Given the description of an element on the screen output the (x, y) to click on. 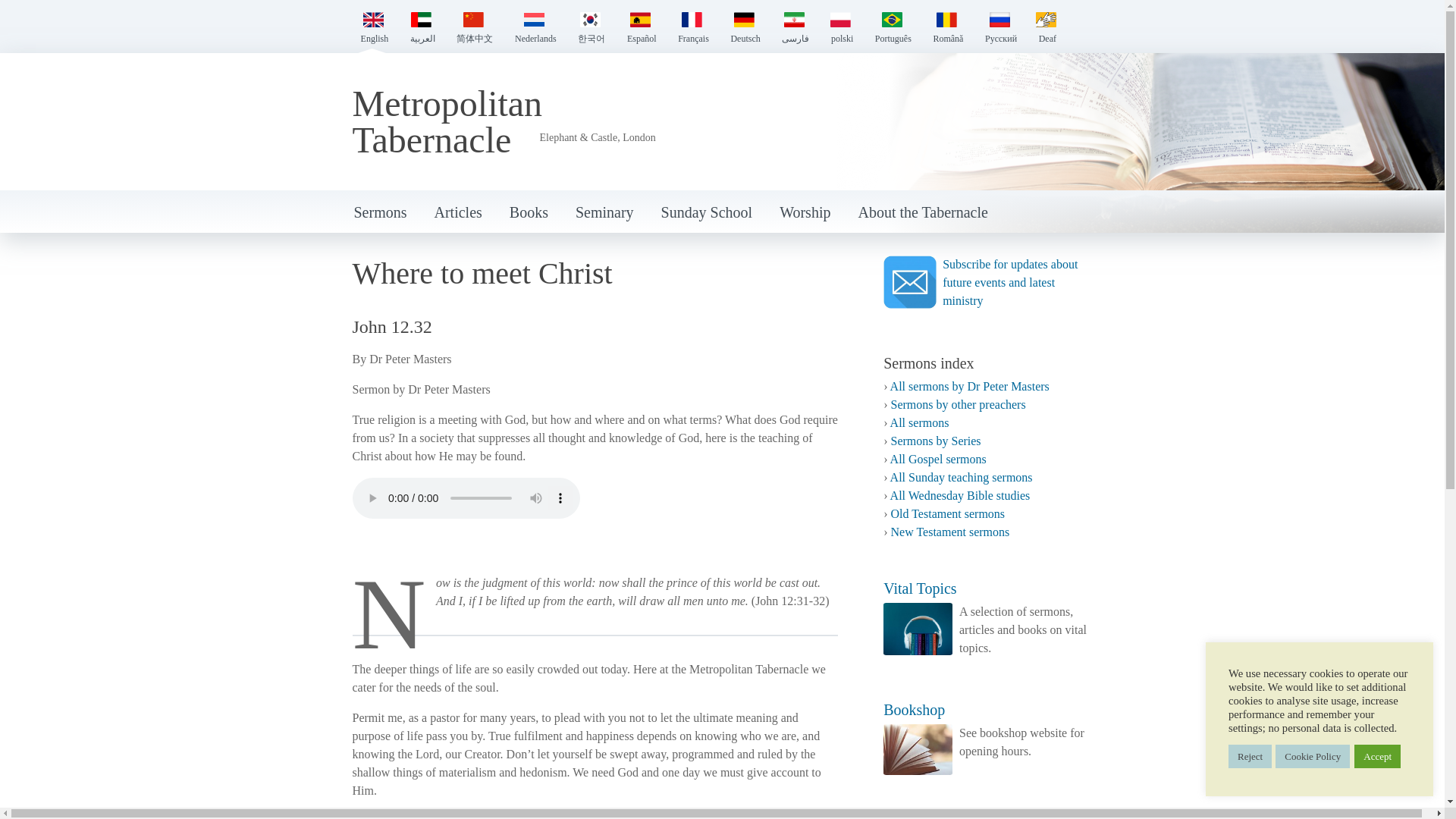
Deutsch (734, 28)
English (373, 28)
Sermons by Series (934, 440)
Books (529, 213)
Sunday School (707, 213)
Nederlands (524, 28)
polski (831, 28)
All sermons (919, 422)
Sermons (379, 213)
Nederlands (524, 28)
Worship (804, 213)
Deaf (1036, 28)
Seminary (604, 213)
Sermons by other preachers (957, 404)
